Given the description of an element on the screen output the (x, y) to click on. 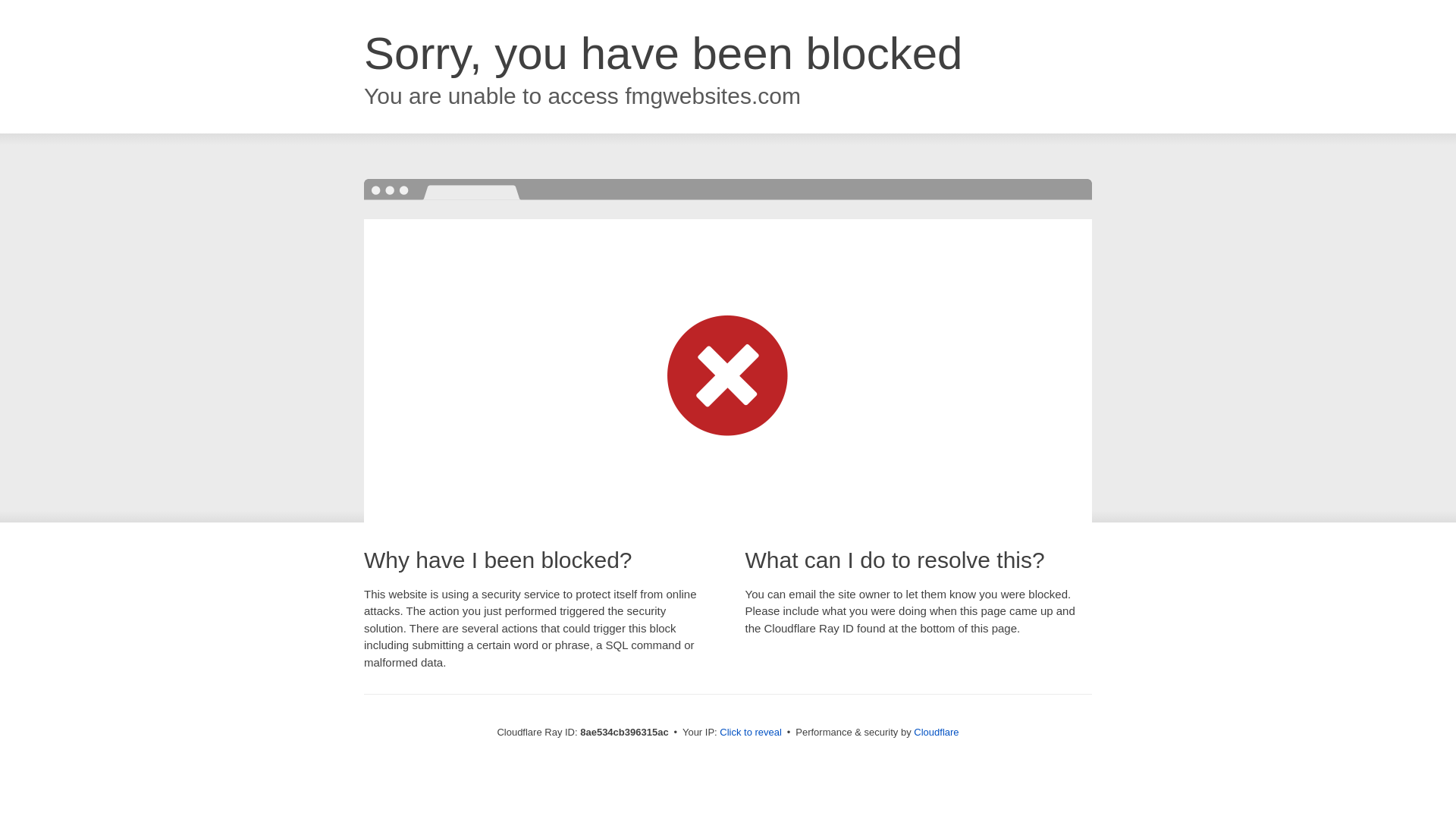
Cloudflare (936, 731)
Click to reveal (750, 732)
